Given the description of an element on the screen output the (x, y) to click on. 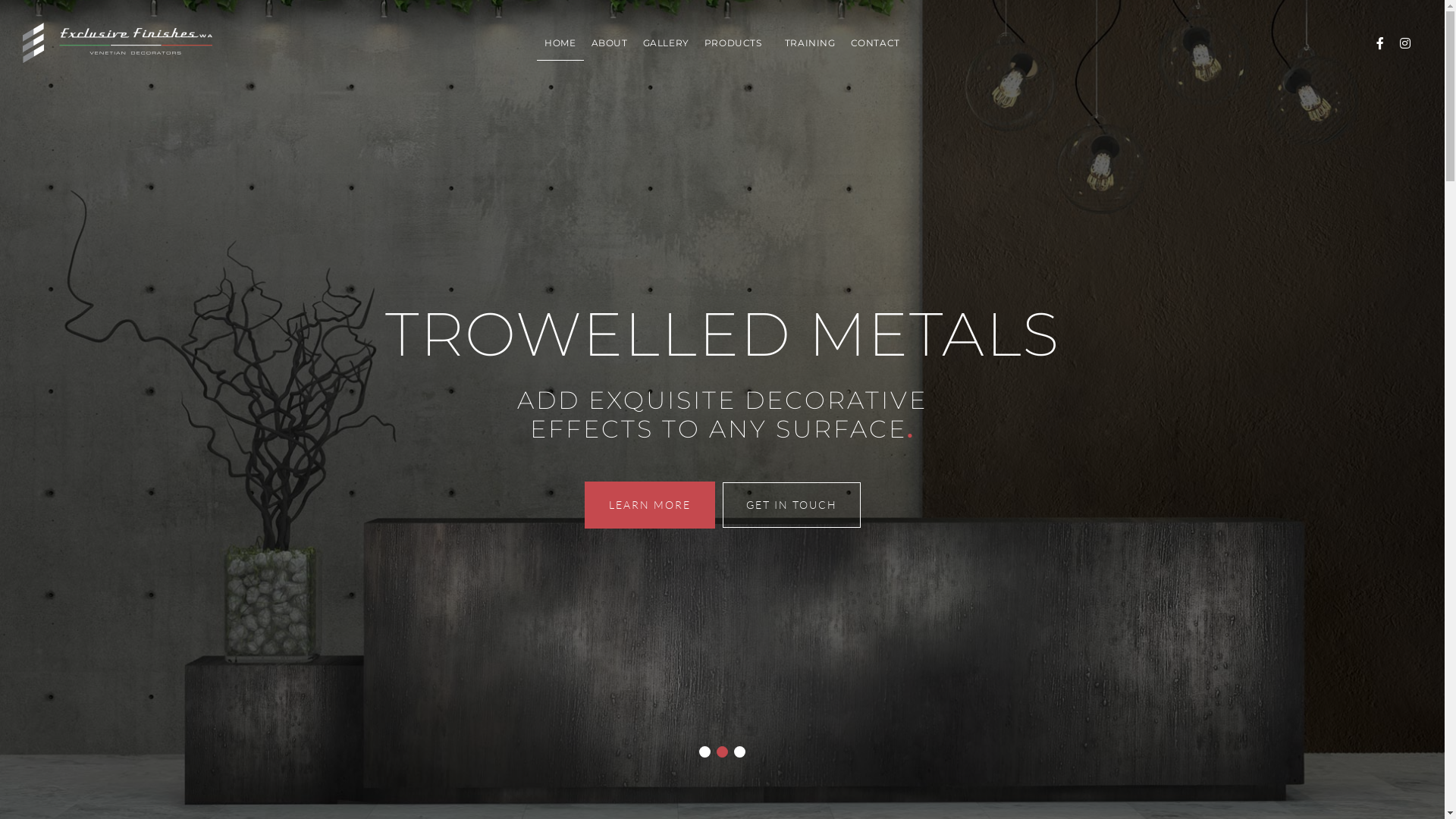
CONTACT Element type: text (875, 42)
TRAINING Element type: text (810, 42)
LEARN MORE Element type: text (648, 504)
GALLERY Element type: text (665, 42)
ABOUT Element type: text (609, 42)
PRODUCTS Element type: text (736, 42)
GET IN TOUCH Element type: text (790, 504)
HOME Element type: text (559, 42)
